Given the description of an element on the screen output the (x, y) to click on. 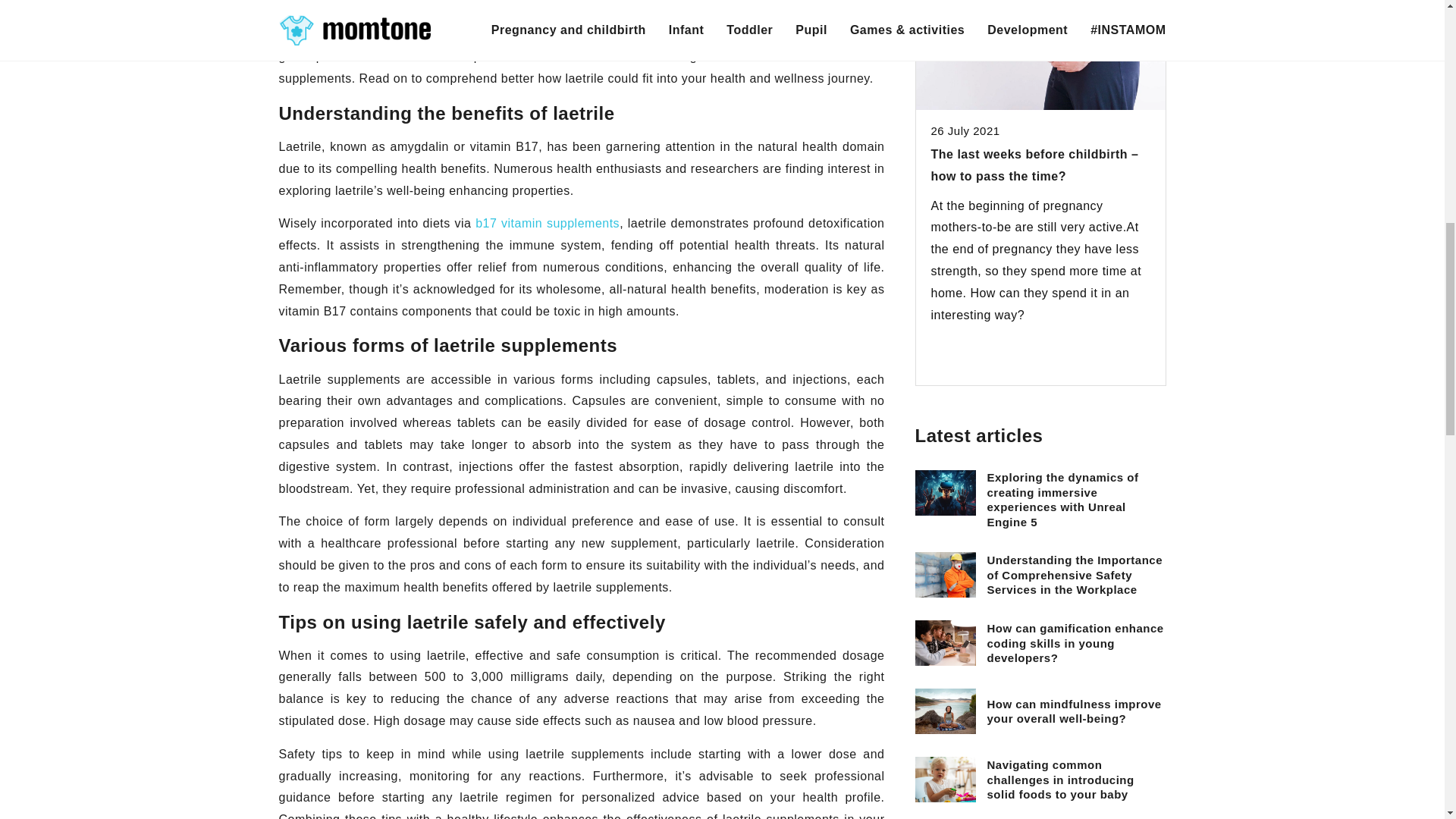
b17 vitamin supplements (548, 223)
